Given the description of an element on the screen output the (x, y) to click on. 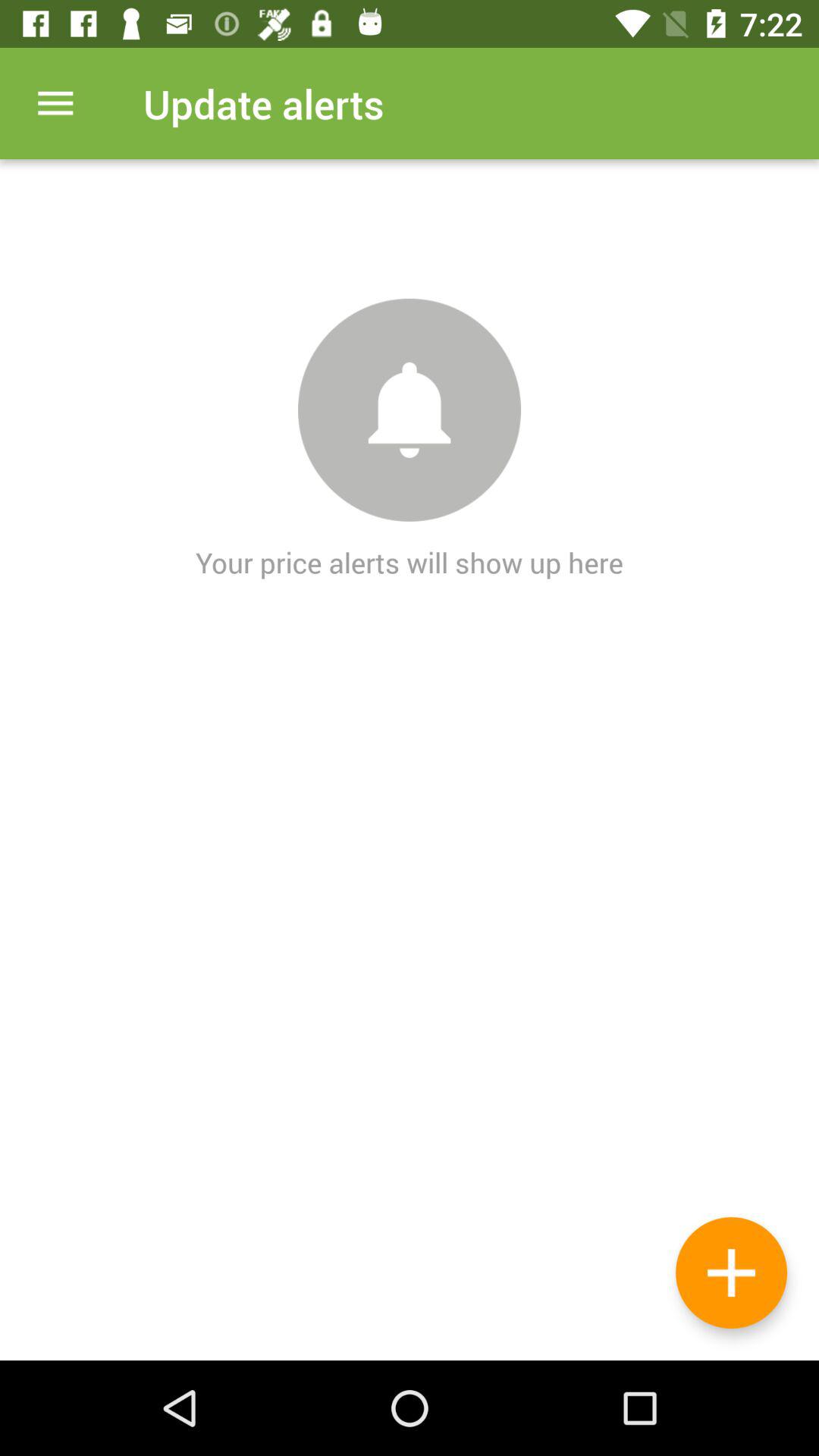
more update alerts options (55, 103)
